Given the description of an element on the screen output the (x, y) to click on. 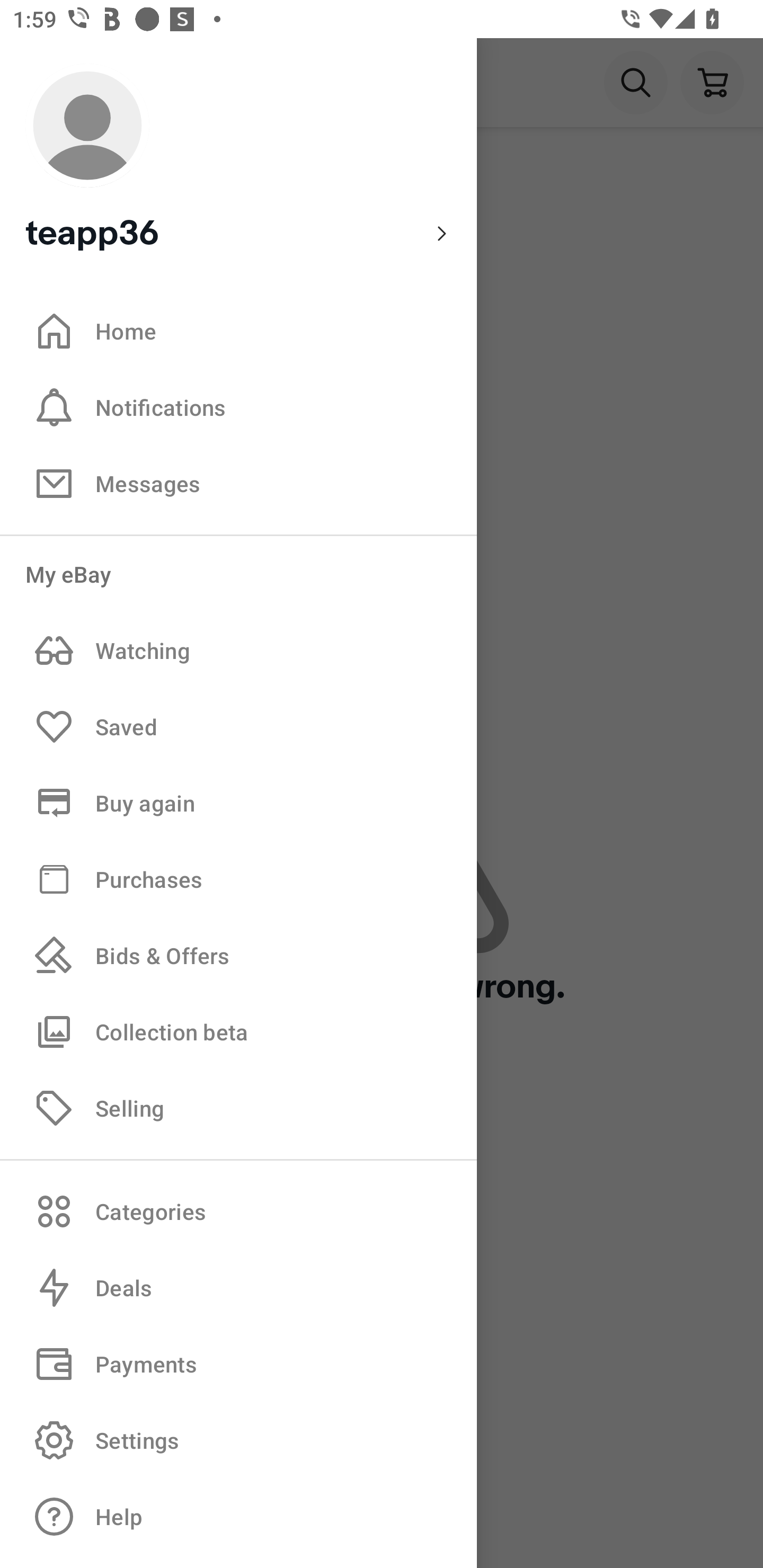
teapp36 (238, 158)
Home (238, 330)
Notifications (238, 406)
Messages (238, 483)
Watching (238, 650)
Saved (238, 726)
Buy again (238, 802)
Purchases (238, 878)
Bids & Offers (238, 955)
Collection beta (238, 1031)
Selling (238, 1107)
Categories (238, 1210)
Deals (238, 1287)
Payments (238, 1363)
Settings (238, 1439)
Help (238, 1516)
